Given the description of an element on the screen output the (x, y) to click on. 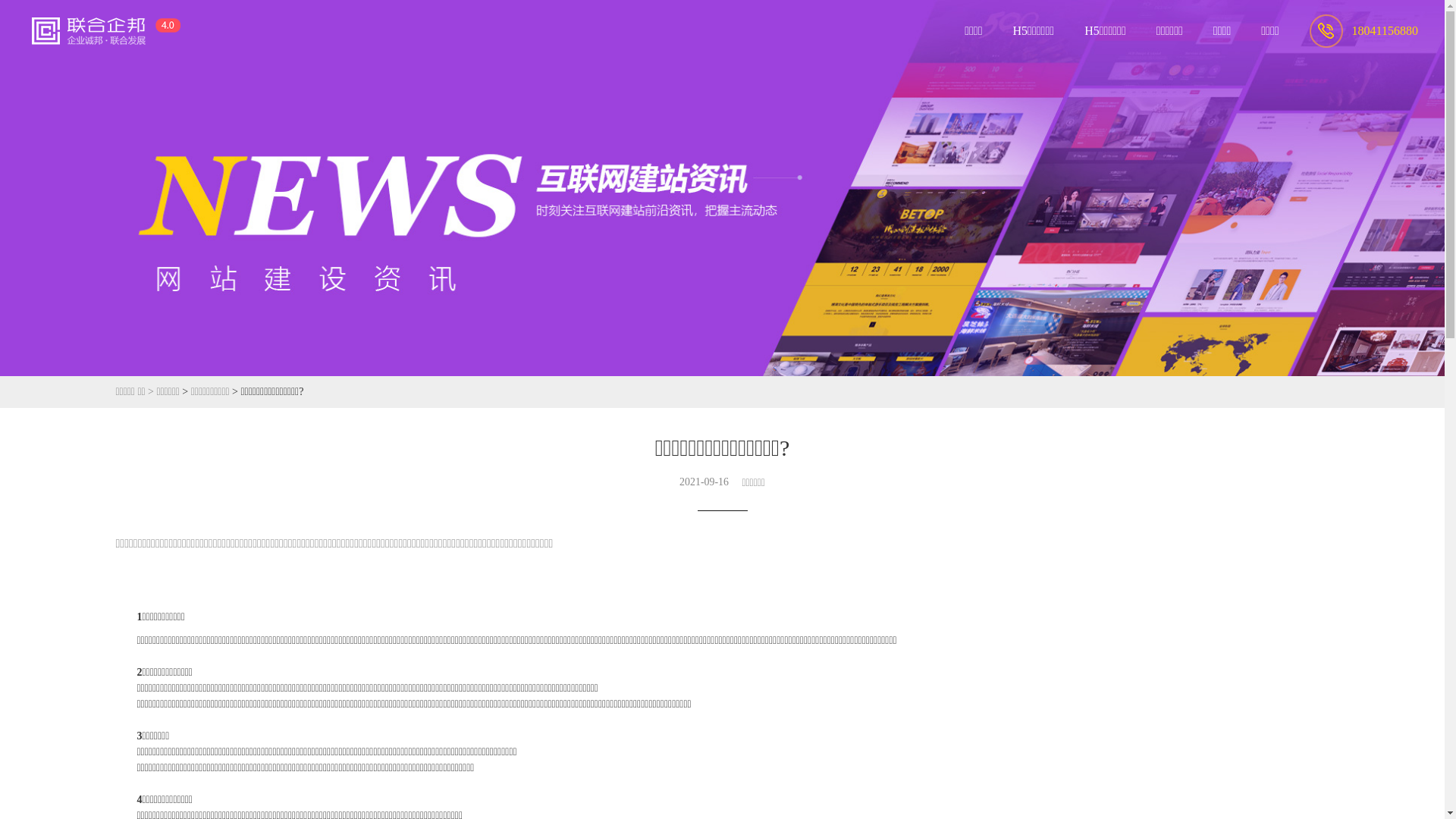
18041156880 Element type: text (1363, 30)
